Given the description of an element on the screen output the (x, y) to click on. 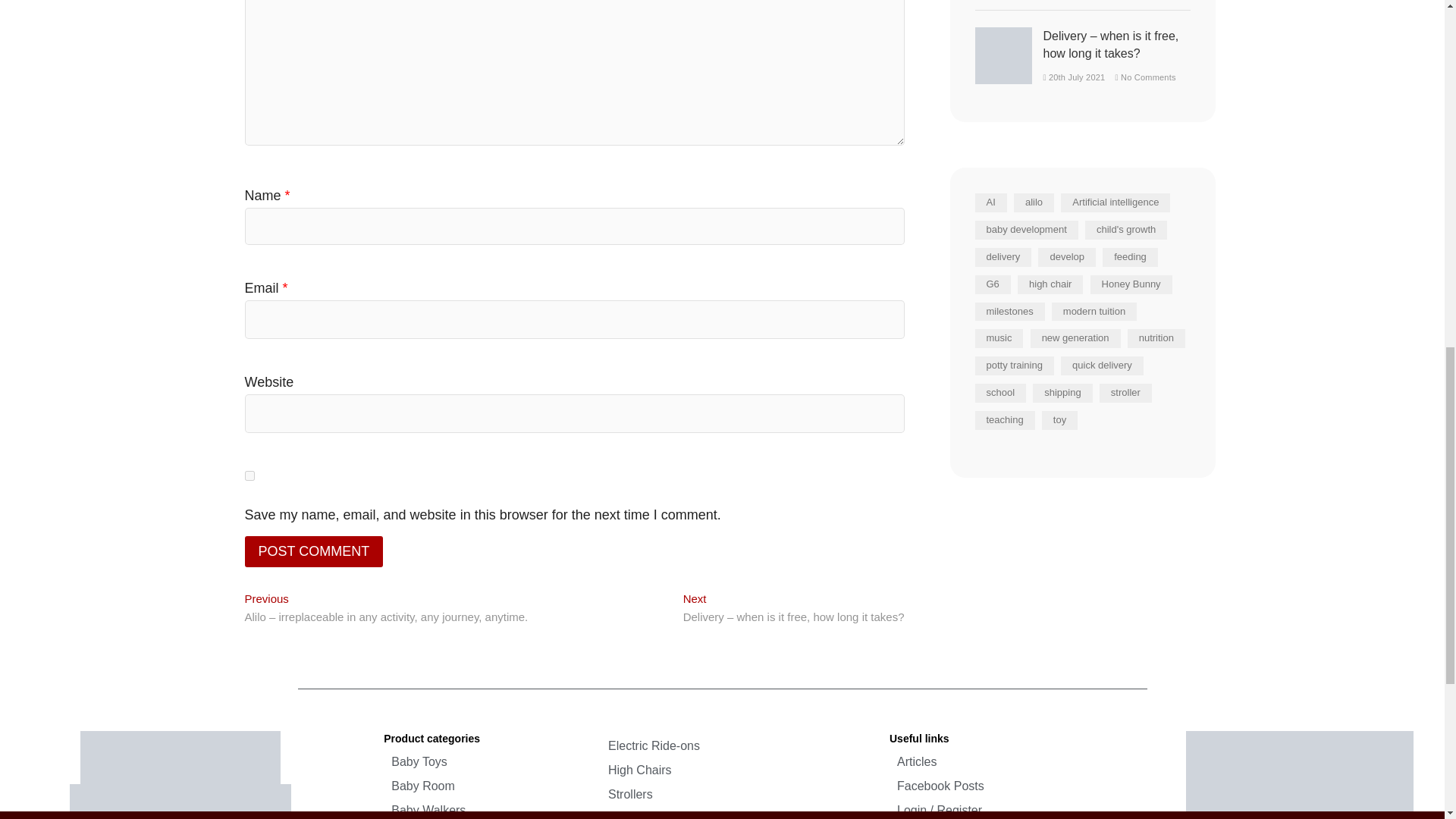
Post Comment (313, 551)
yes (248, 475)
Post Comment (313, 551)
